Given the description of an element on the screen output the (x, y) to click on. 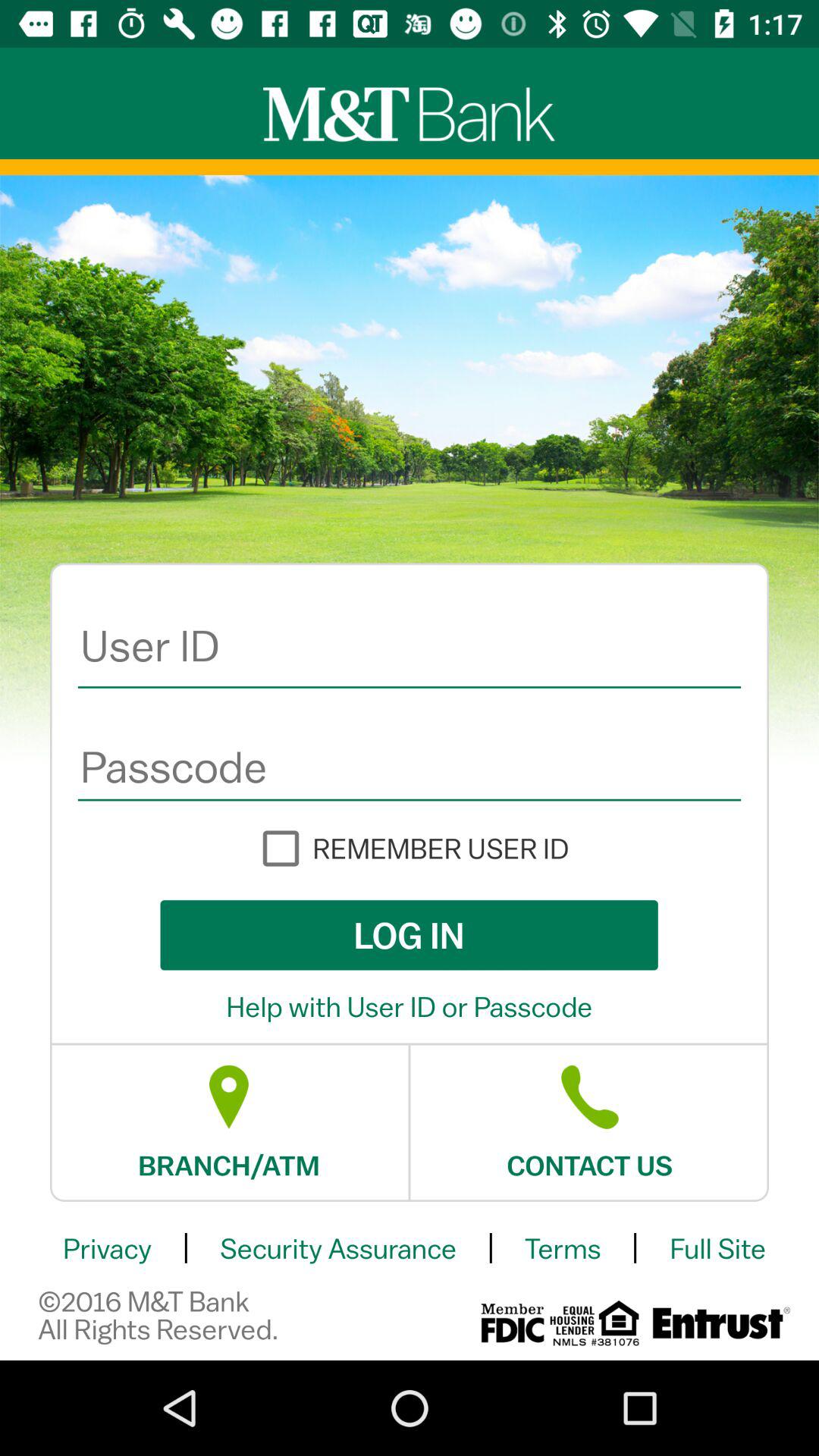
press icon below the contact us (562, 1247)
